Given the description of an element on the screen output the (x, y) to click on. 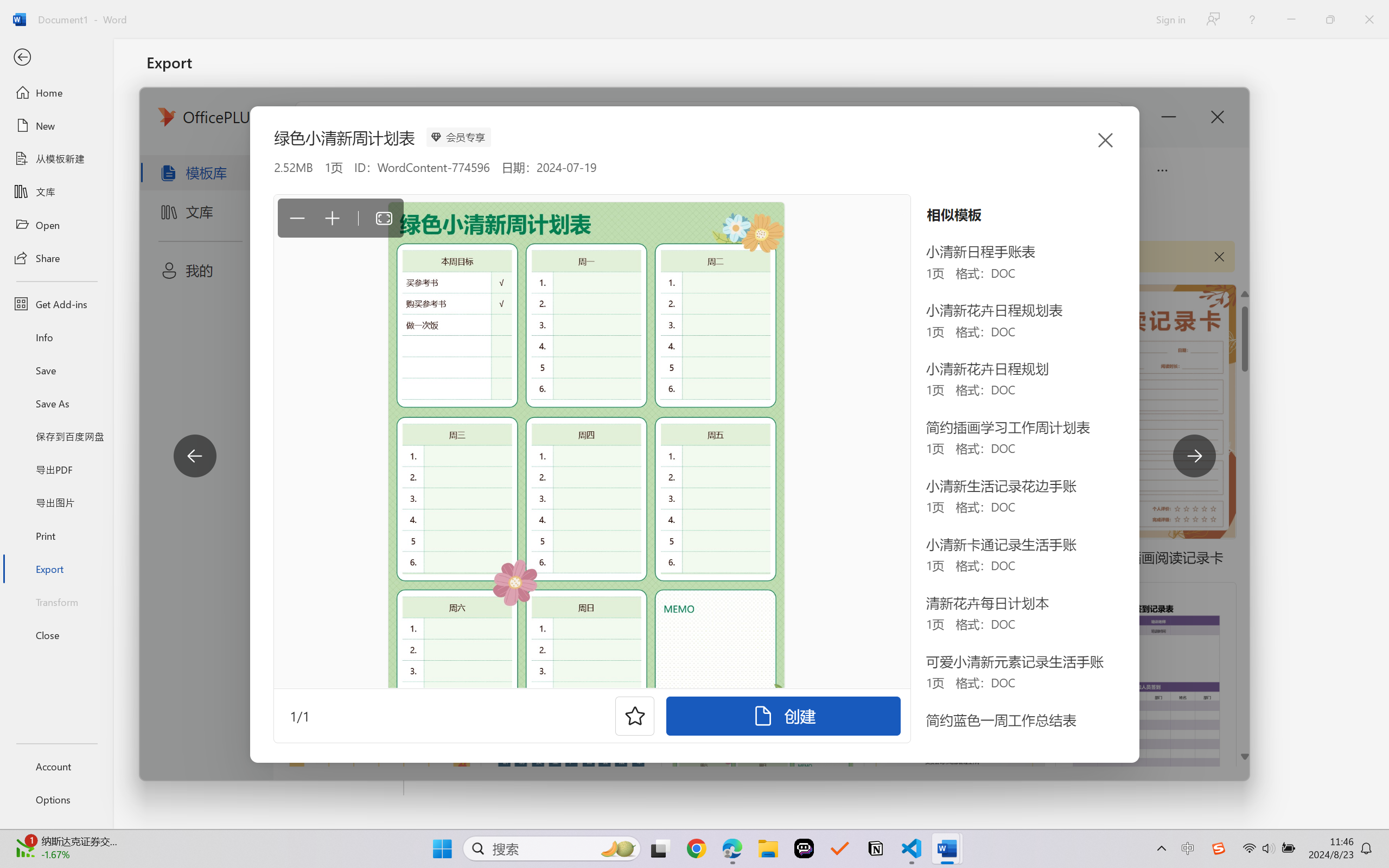
Info (56, 337)
Transform (56, 601)
Options (56, 798)
